Given the description of an element on the screen output the (x, y) to click on. 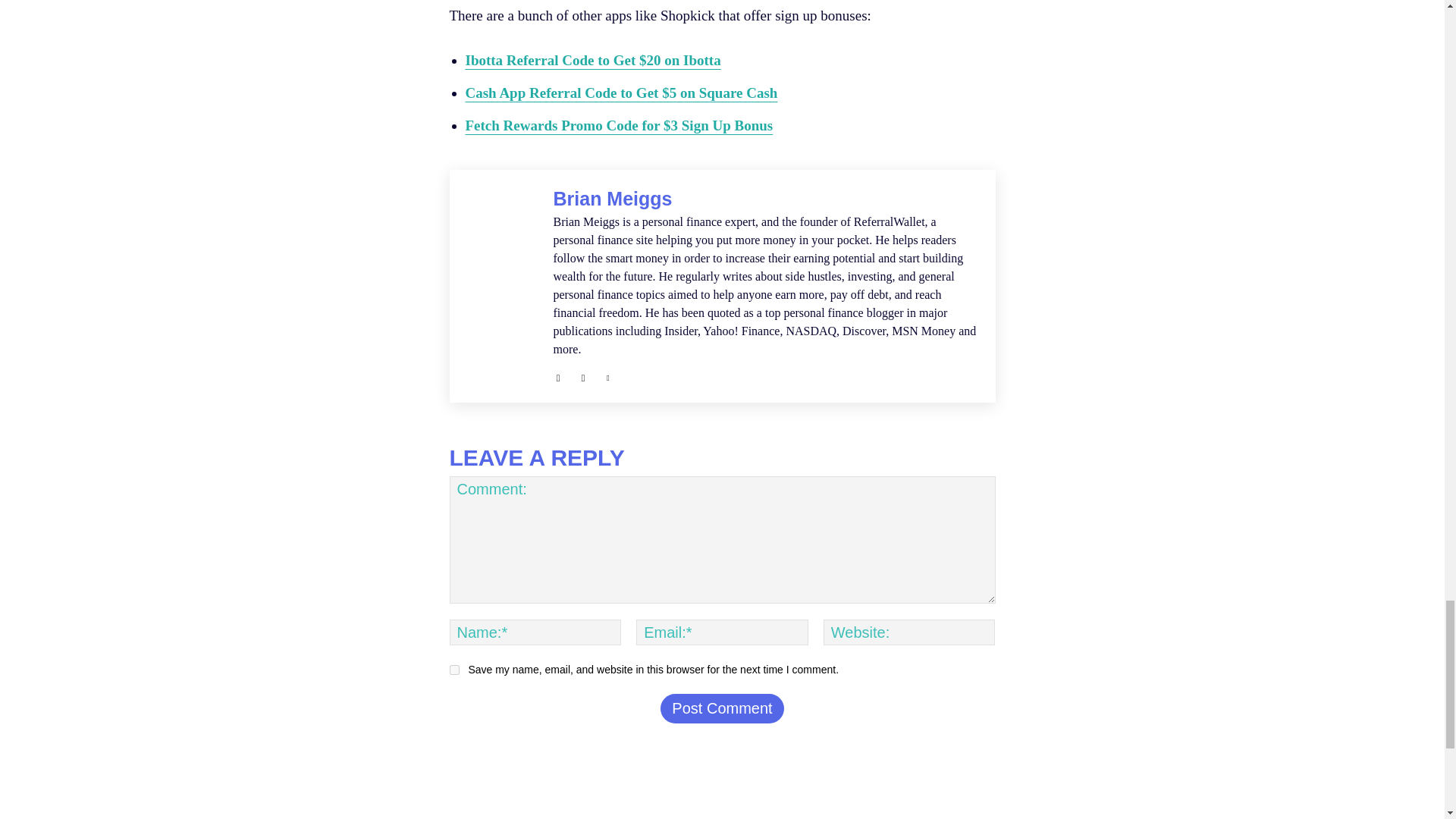
Facebook (558, 374)
Twitter (608, 374)
Post Comment (722, 708)
yes (453, 669)
Instagram (583, 374)
